Given the description of an element on the screen output the (x, y) to click on. 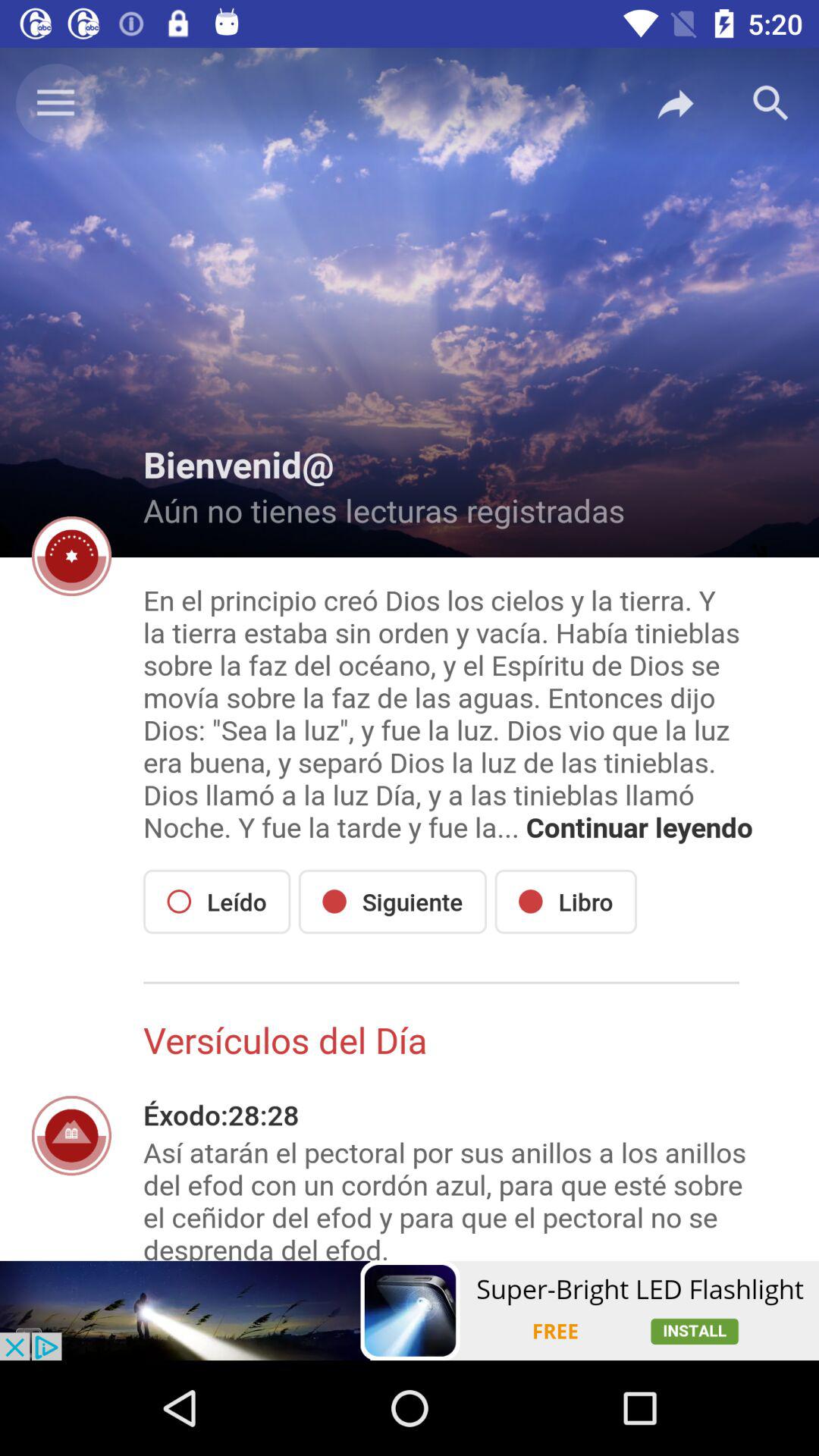
tap icon below en el principio item (392, 901)
